Given the description of an element on the screen output the (x, y) to click on. 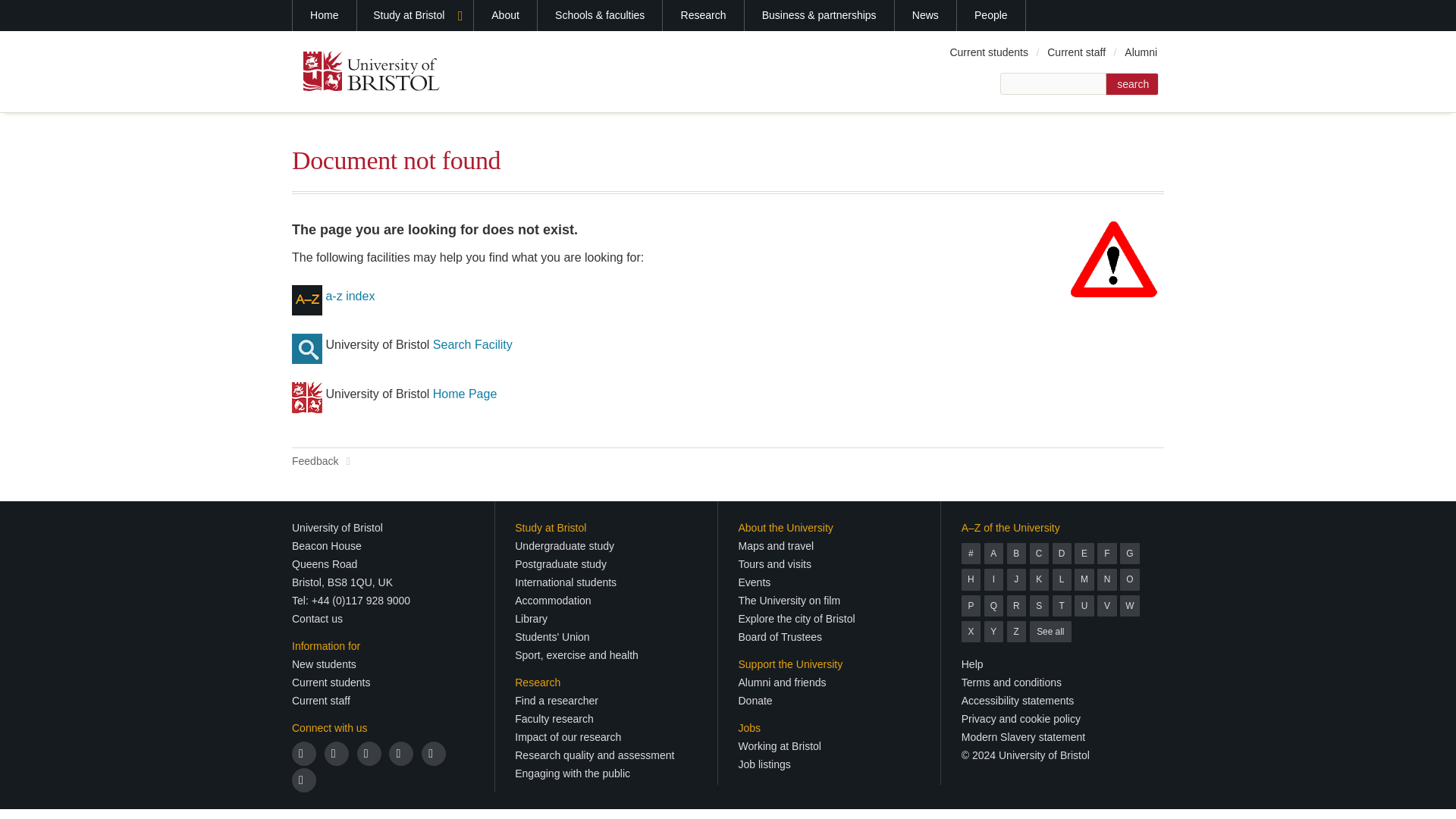
Study at Bristol (415, 15)
search (1131, 83)
Connect with us (330, 727)
search (1131, 83)
News (925, 15)
About (505, 15)
Alumni (1140, 52)
search (1131, 83)
enter search keywords (1053, 83)
Current staff (1076, 52)
Current students (988, 52)
Feedback (321, 460)
Search Facility (472, 344)
Current students (331, 682)
Home Page (464, 393)
